Given the description of an element on the screen output the (x, y) to click on. 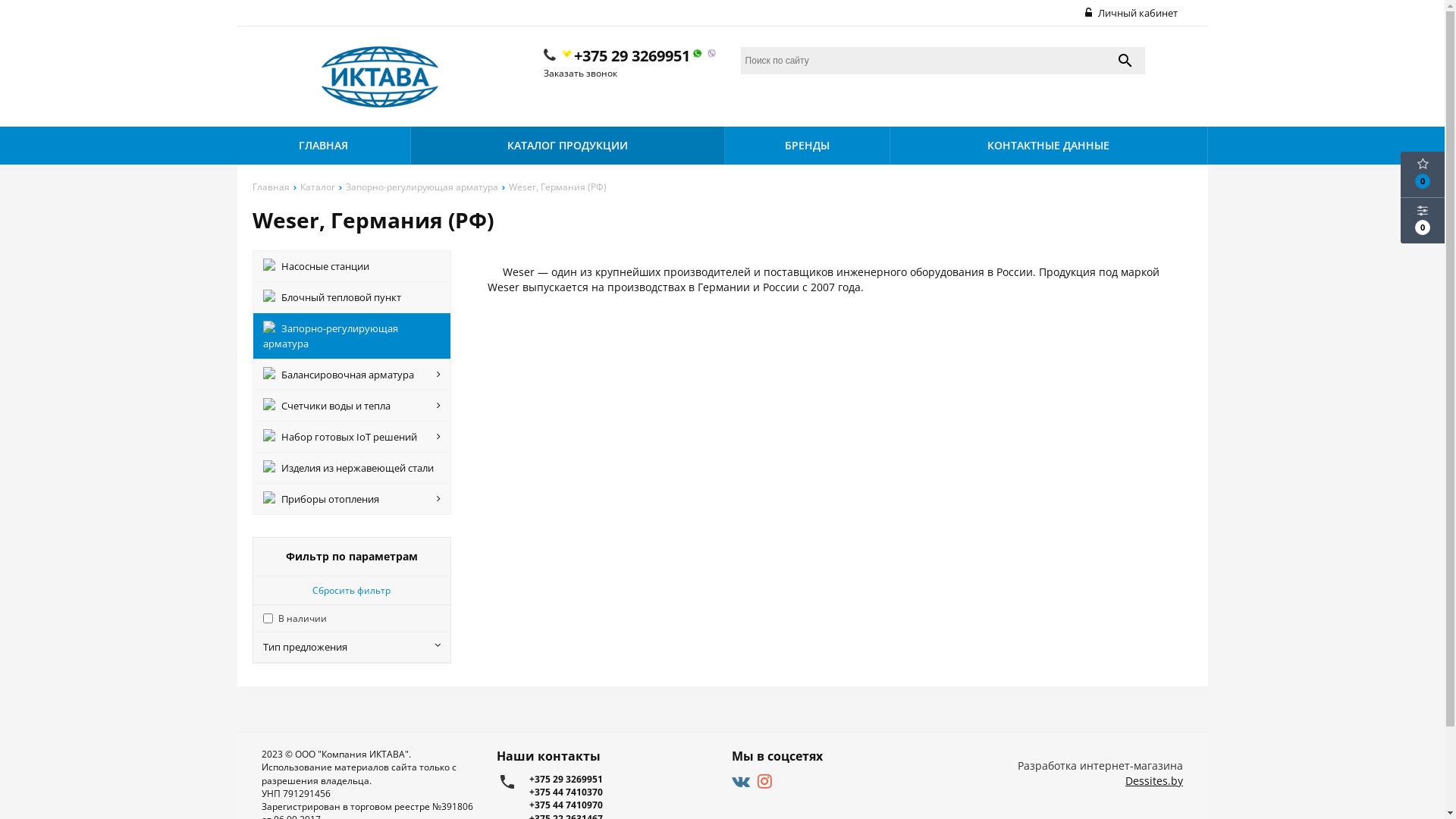
Dessites.by Element type: text (1154, 780)
0 Element type: text (1422, 174)
search Element type: text (1124, 60)
0 Element type: text (1422, 220)
+375 29 3269951 Element type: text (620, 778)
+375 29 3269951 Element type: text (638, 56)
+375 44 7410370 Element type: text (620, 791)
+375 44 7410970 Element type: text (620, 804)
